Given the description of an element on the screen output the (x, y) to click on. 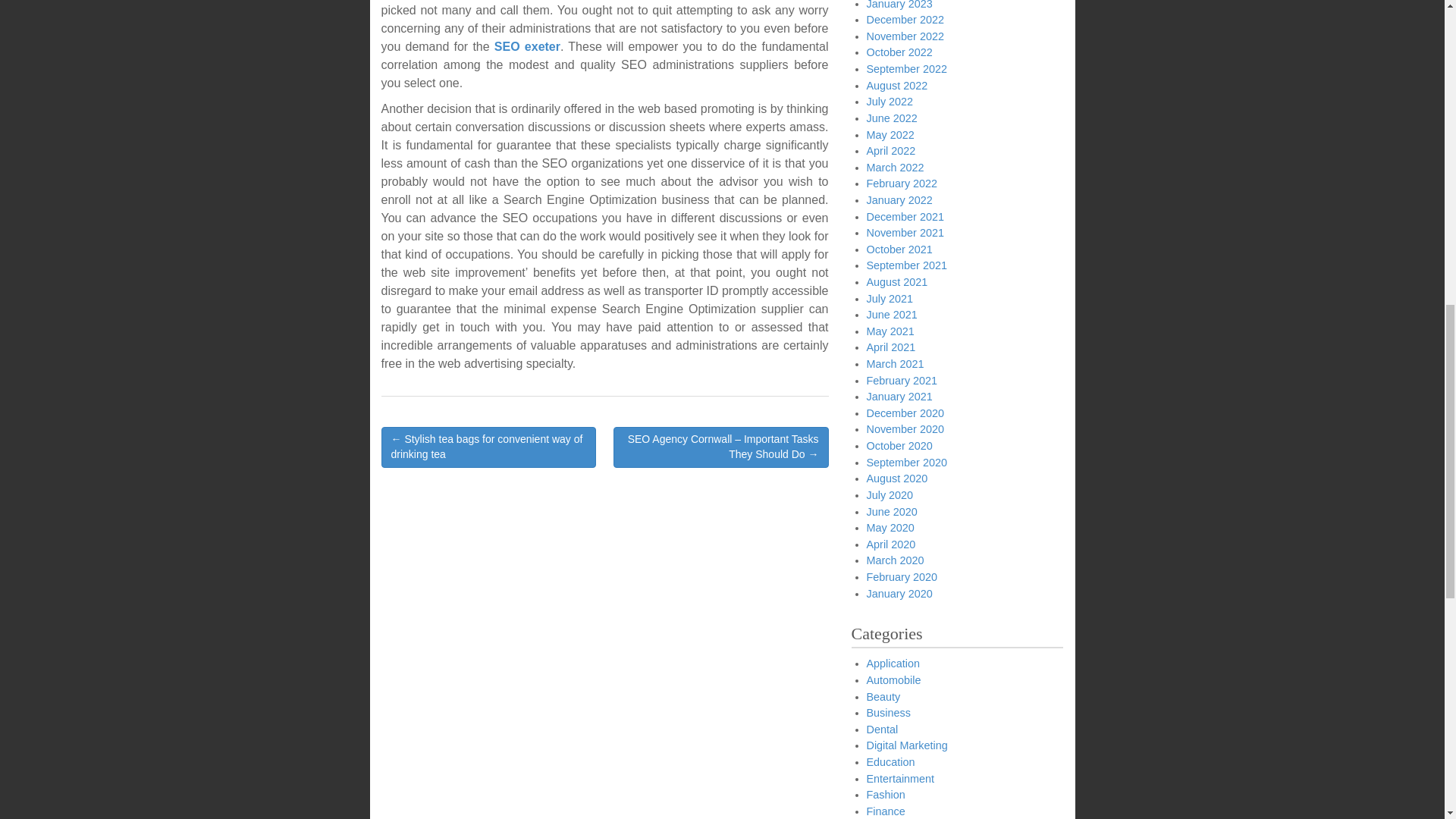
SEO exeter (527, 46)
December 2022 (904, 19)
January 2023 (898, 4)
November 2022 (904, 36)
